Given the description of an element on the screen output the (x, y) to click on. 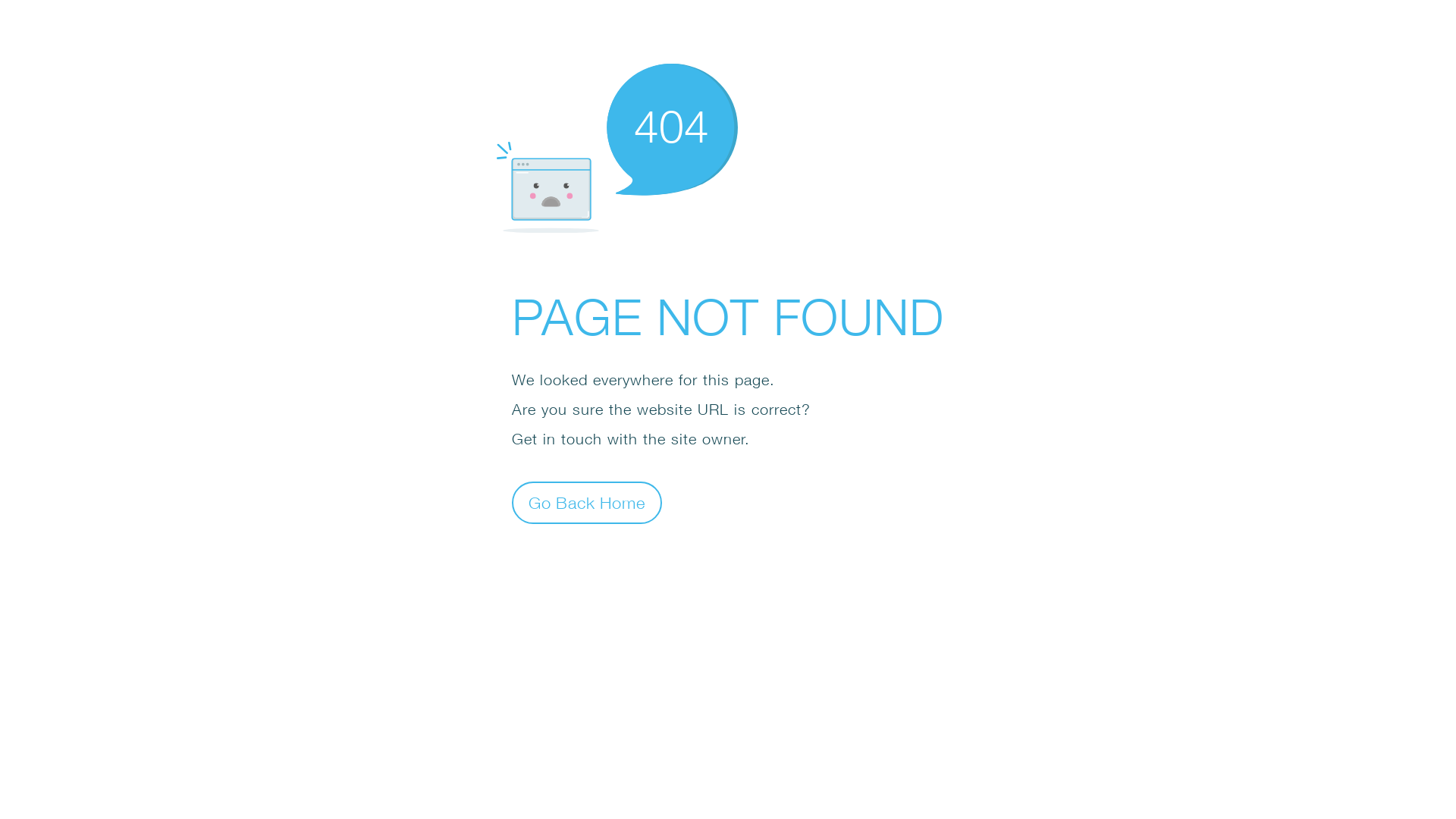
Go Back Home Element type: text (586, 502)
